Given the description of an element on the screen output the (x, y) to click on. 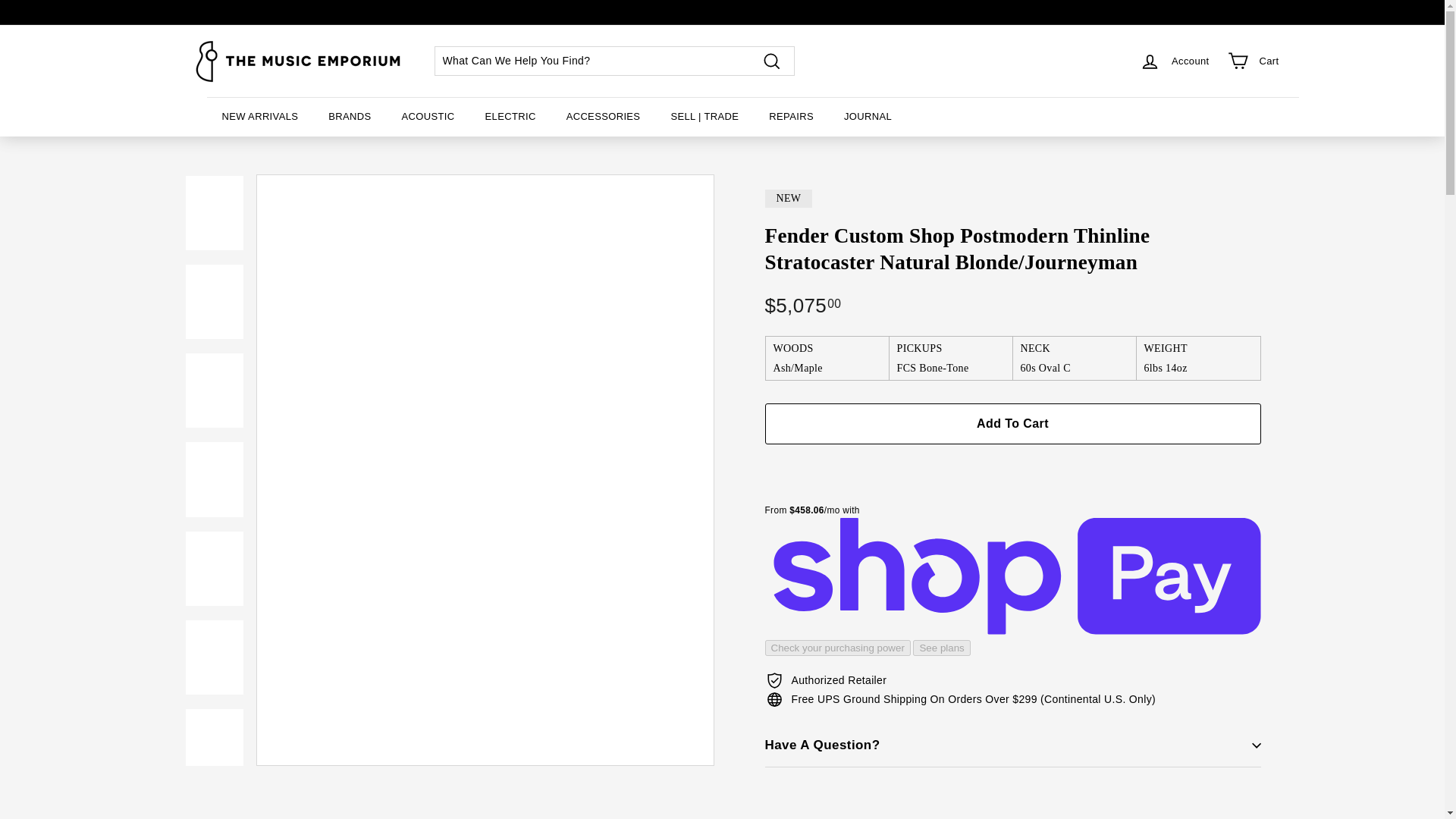
Account (1174, 60)
BRANDS (349, 116)
NEW ARRIVALS (259, 116)
